Given the description of an element on the screen output the (x, y) to click on. 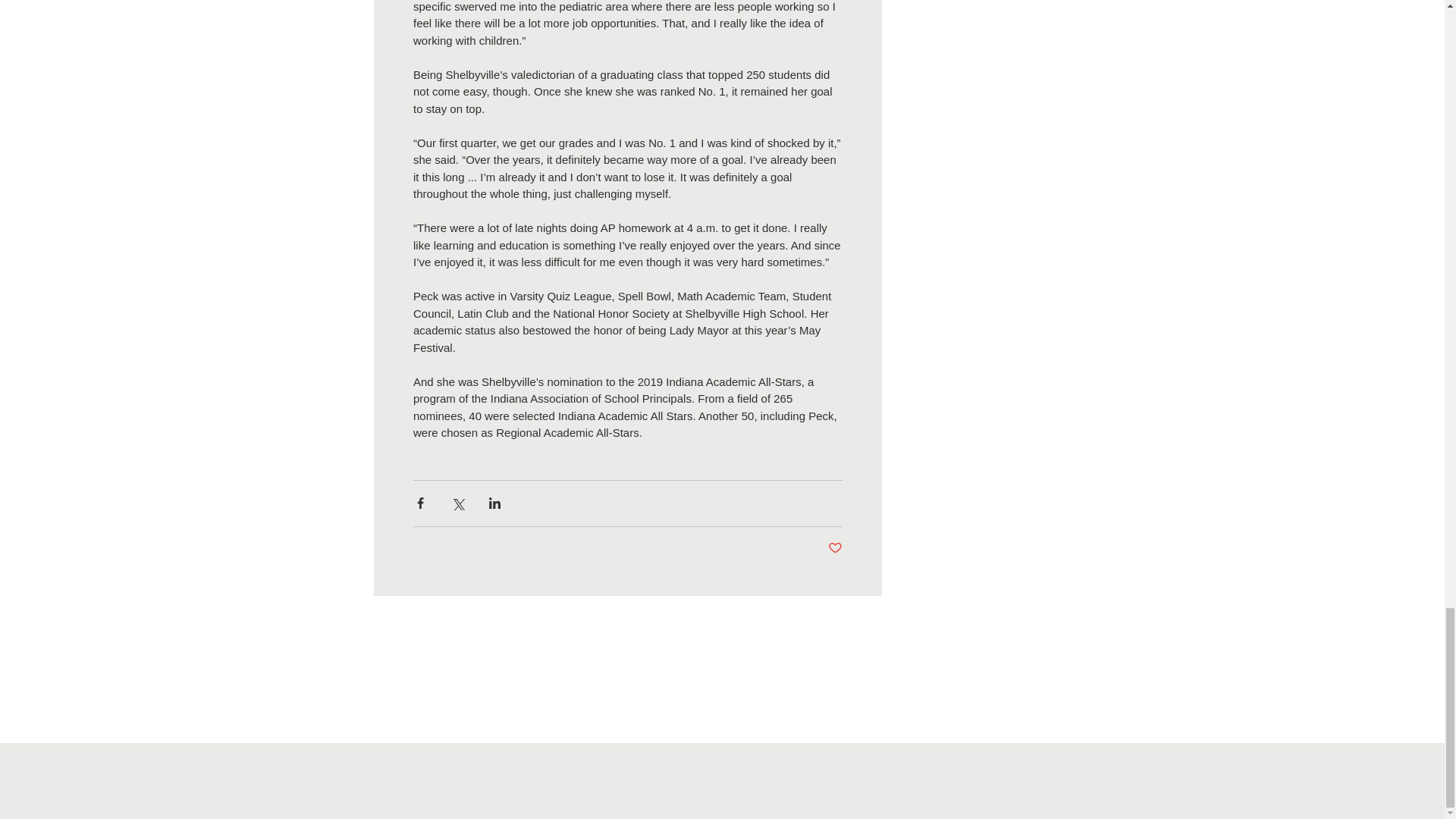
Post not marked as liked (835, 548)
